Given the description of an element on the screen output the (x, y) to click on. 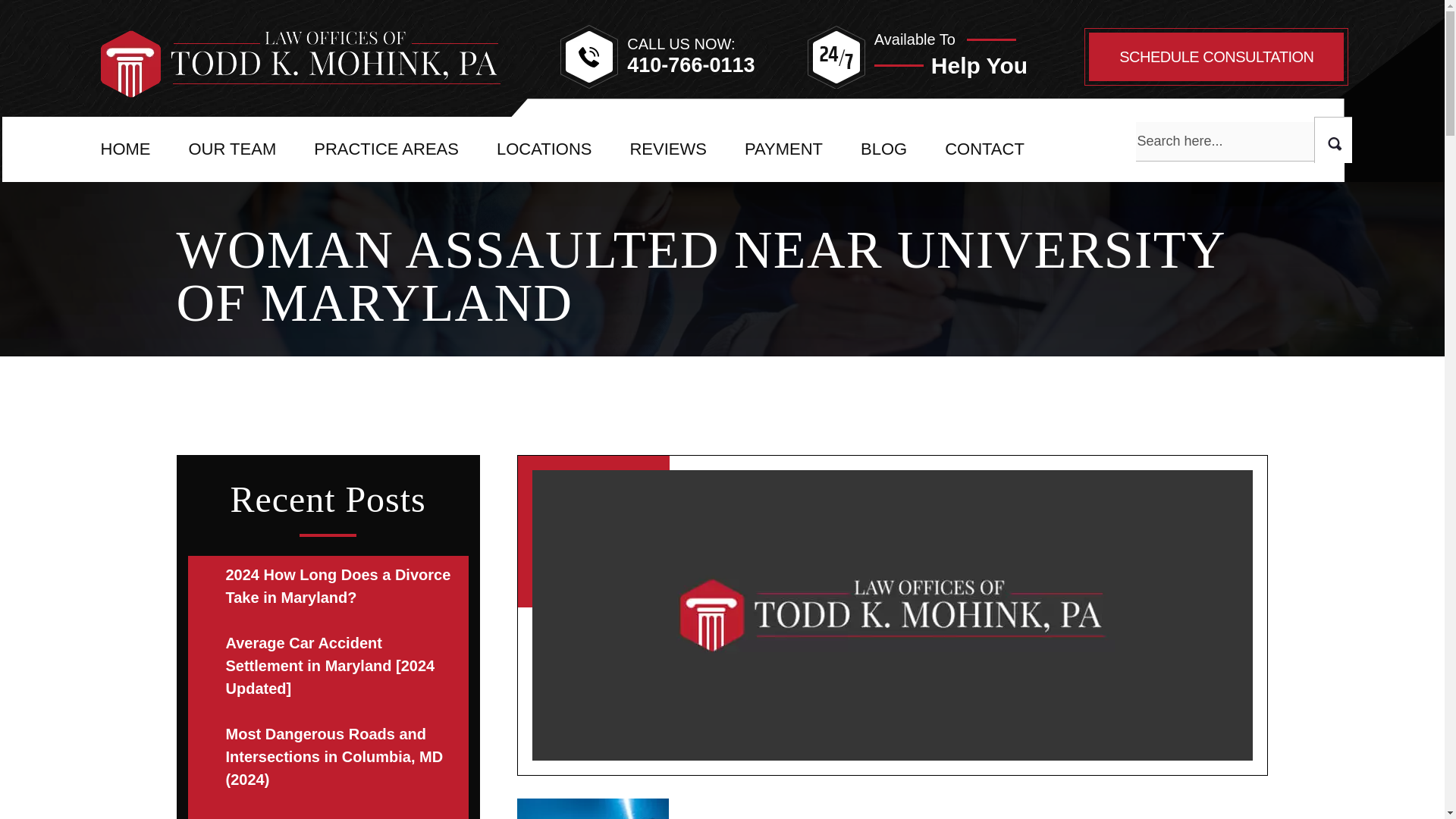
SCHEDULE CONSULTATION (1216, 55)
OUR TEAM (231, 148)
410-766-0113 (690, 65)
HOME (124, 148)
PRACTICE AREAS (386, 148)
